Given the description of an element on the screen output the (x, y) to click on. 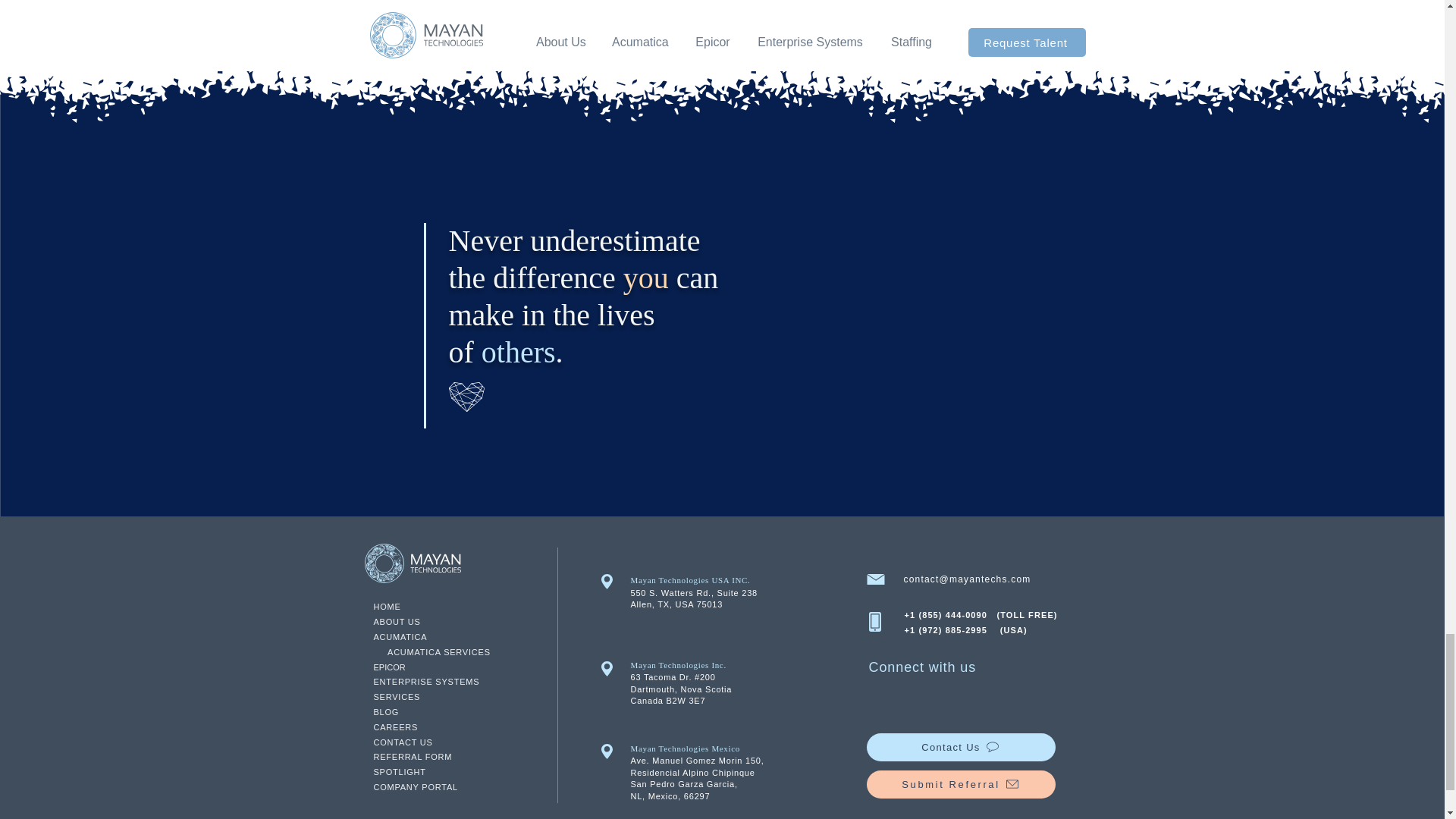
Mayan Technologies Inc. (678, 664)
CONTACT US (402, 741)
ABOUT US (396, 621)
REFERRAL FORM (411, 756)
Mayan Technologies USA INC. (690, 579)
BLOG (385, 711)
Mayan Technologies Mexico (684, 747)
ACUMATICA SERVICES (438, 651)
550 S. Watters Rd., Suite 238 (693, 592)
HOME (386, 605)
